Given the description of an element on the screen output the (x, y) to click on. 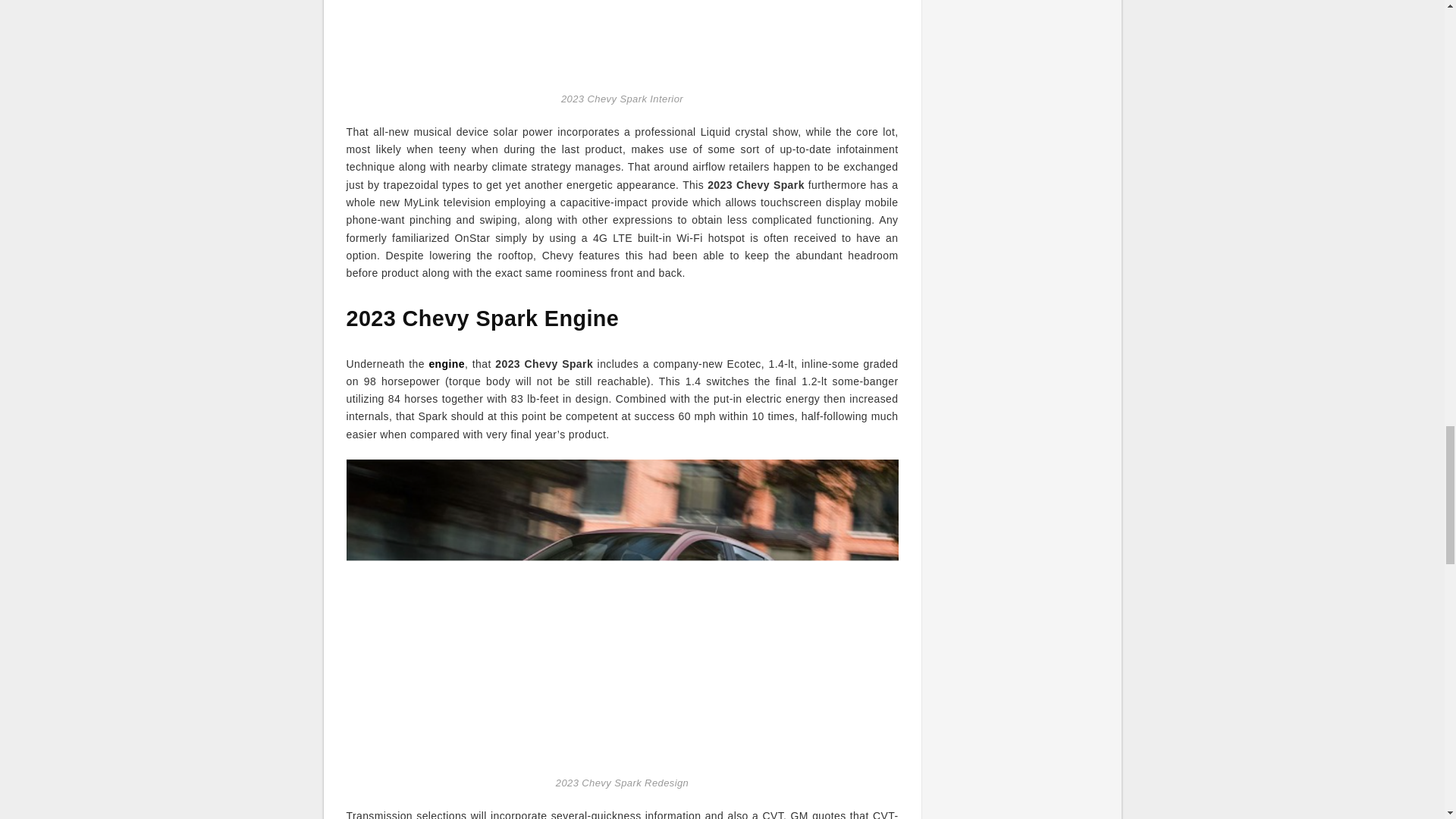
engine (446, 363)
